Given the description of an element on the screen output the (x, y) to click on. 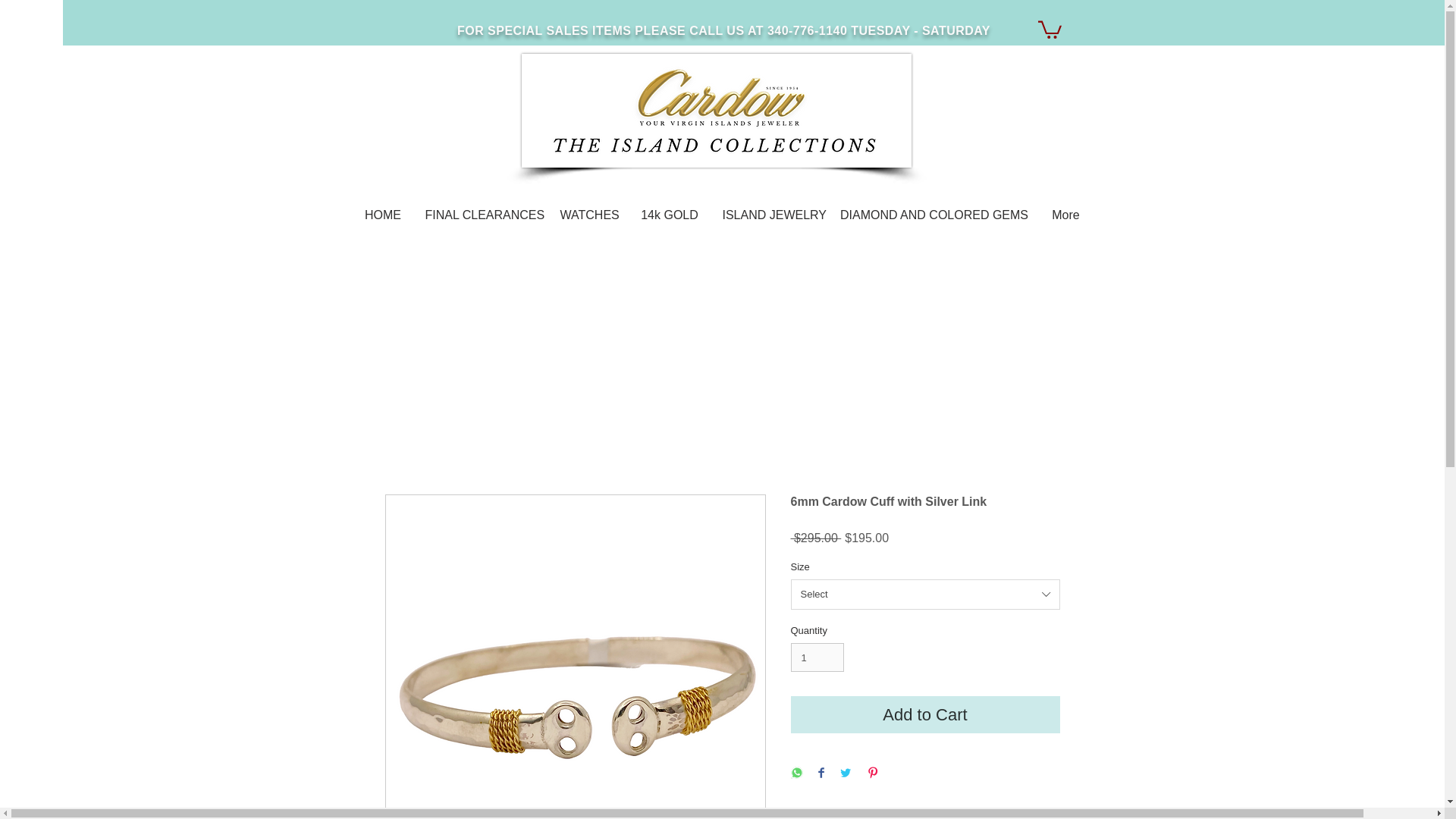
1 (817, 656)
HOME (382, 215)
14k GOLD (668, 215)
FINAL CLEARANCES (480, 215)
DIAMOND AND COLORED GEMS (933, 215)
Add to Cart (924, 714)
Cardow-LOGO-2015-Gold-HIGHRES.jpg (716, 110)
Select (924, 594)
